Given the description of an element on the screen output the (x, y) to click on. 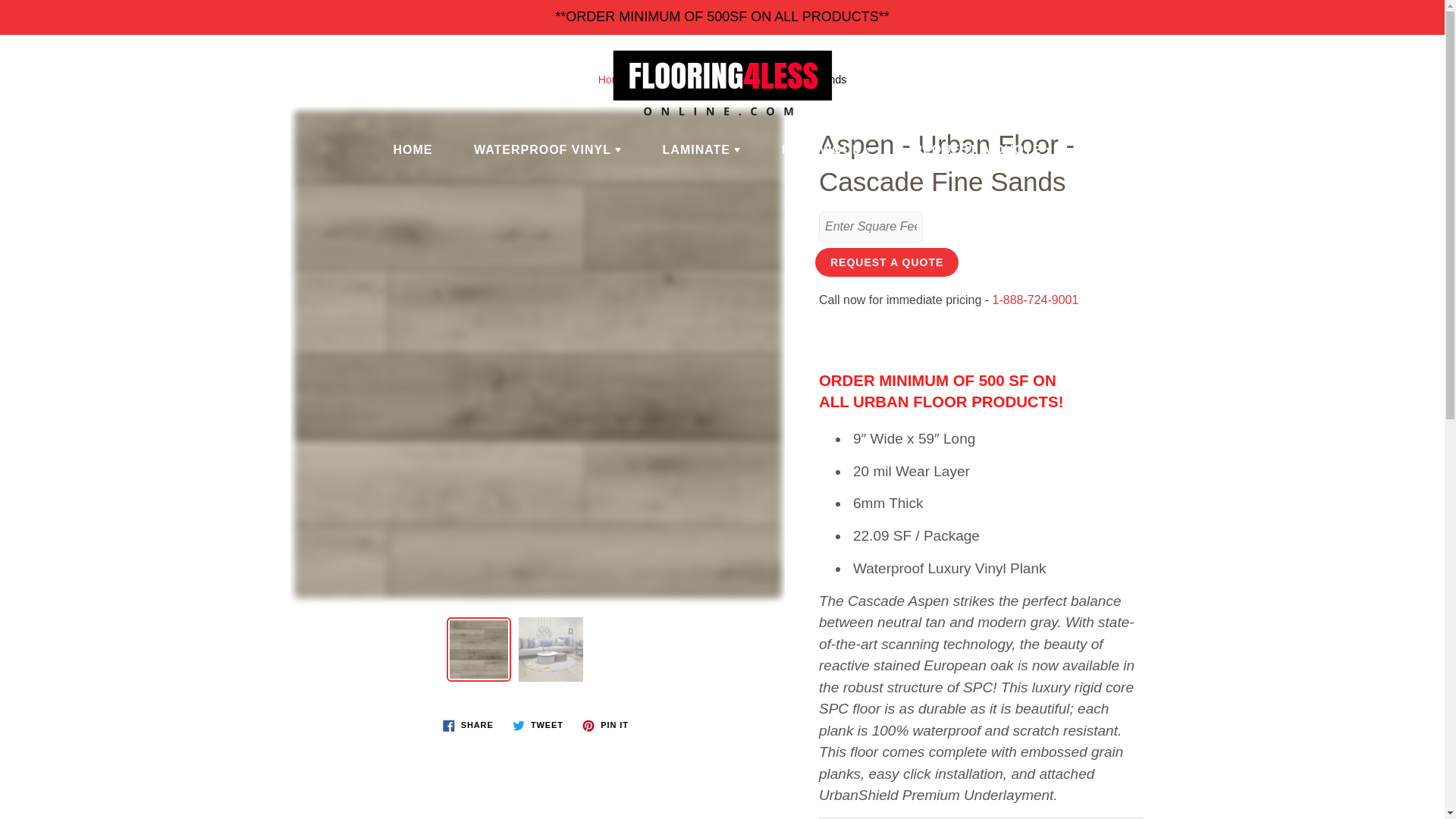
HOME (412, 149)
Share on Facebook (467, 725)
You have 0 items in your cart (1417, 60)
Search (71, 81)
WATERPROOF VINYL (547, 149)
Aspen - Urban Floor - Cascade Fine Sands (478, 648)
Pin on Pinterest (604, 725)
Home (612, 79)
Qty (870, 226)
